Given the description of an element on the screen output the (x, y) to click on. 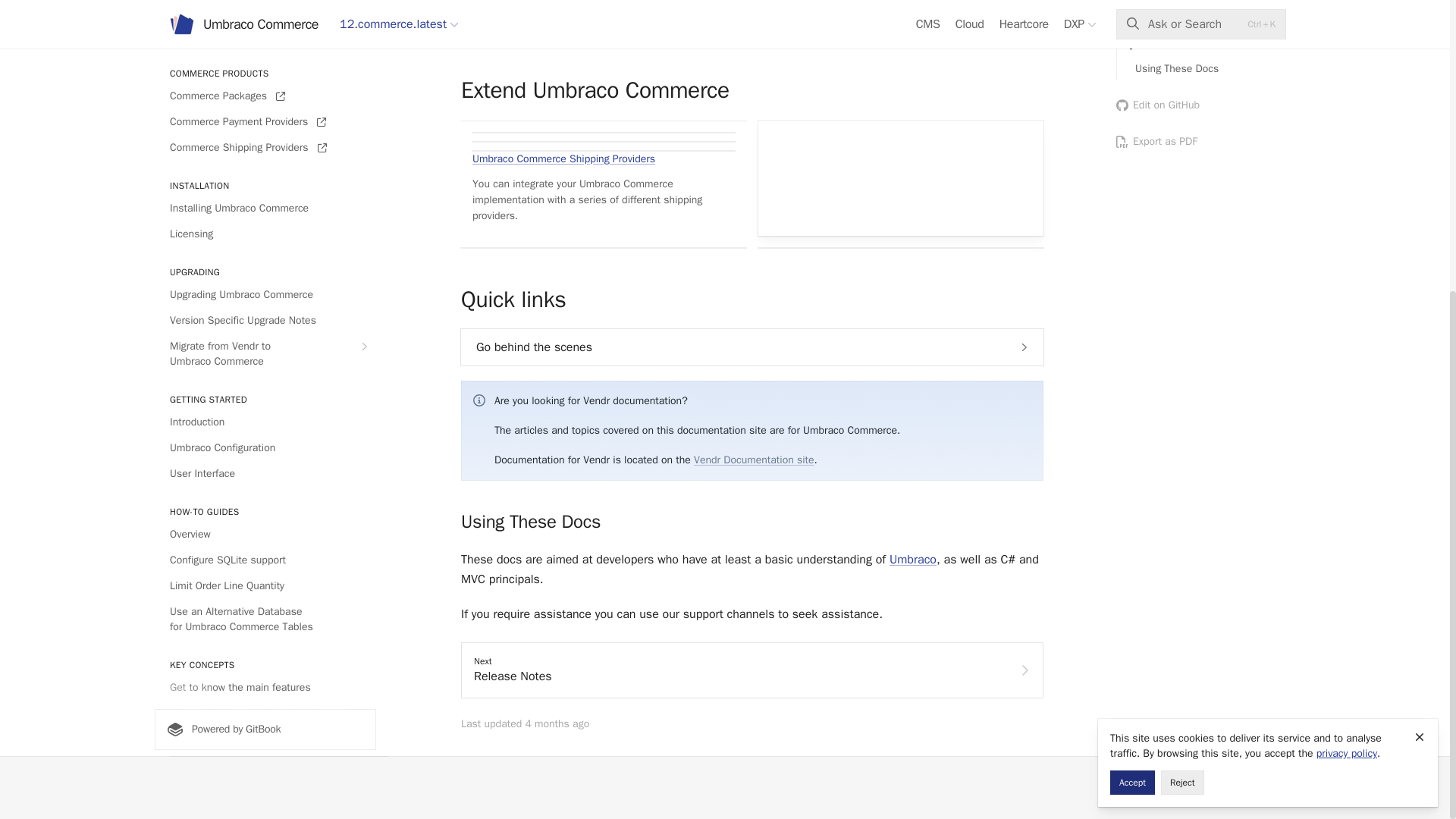
Overview (264, 145)
Umbraco Configuration (264, 58)
Dependency Injection (264, 401)
Limit Order Line Quantity (264, 197)
Get to know the main features (264, 298)
Base Currency (264, 324)
User Interface (264, 84)
Calculators (264, 375)
Close (1419, 285)
Introduction (264, 33)
